Given the description of an element on the screen output the (x, y) to click on. 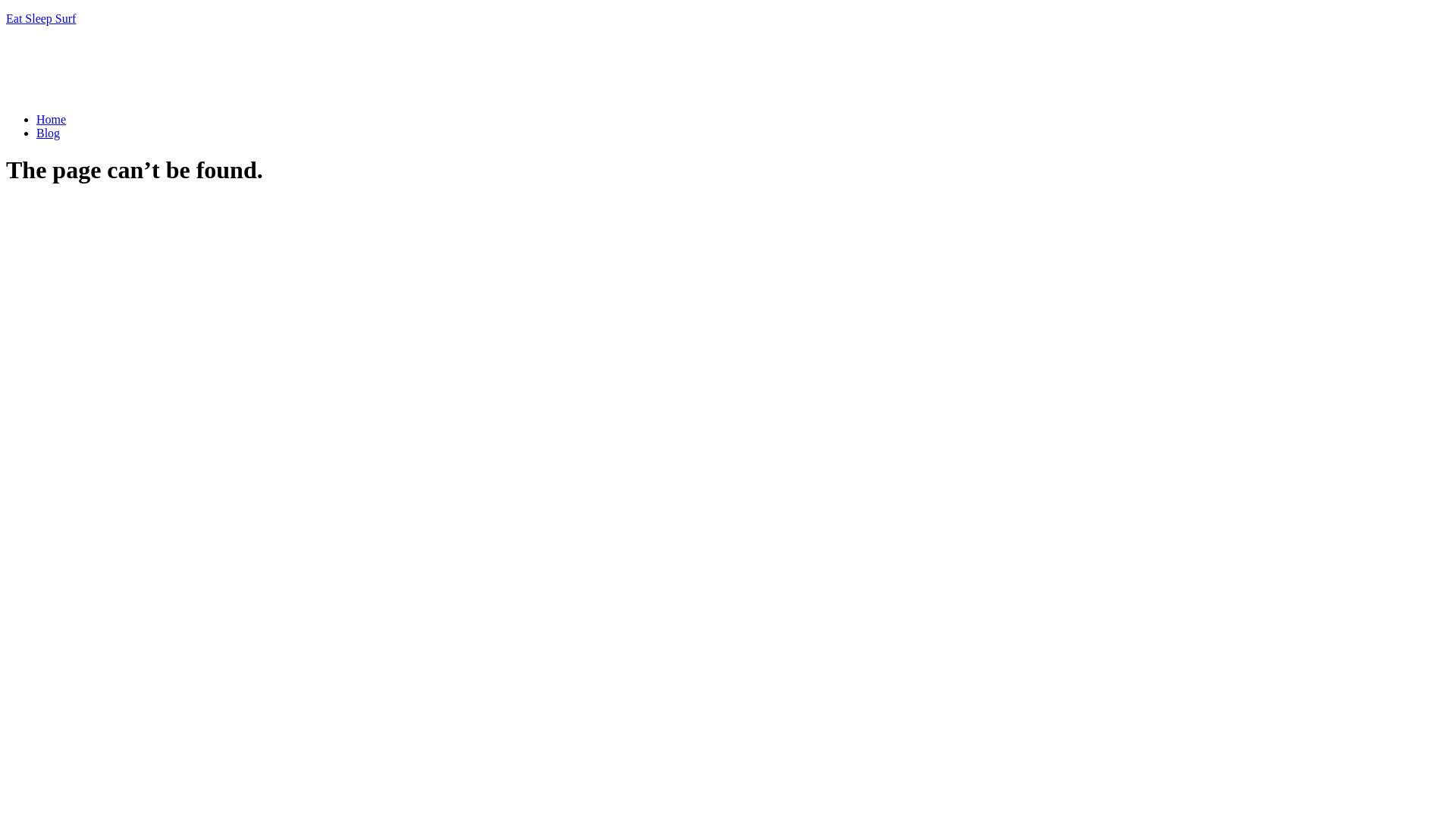
Home Element type: text (50, 118)
Eat Sleep Surf Element type: text (40, 18)
Blog Element type: text (47, 132)
